Given the description of an element on the screen output the (x, y) to click on. 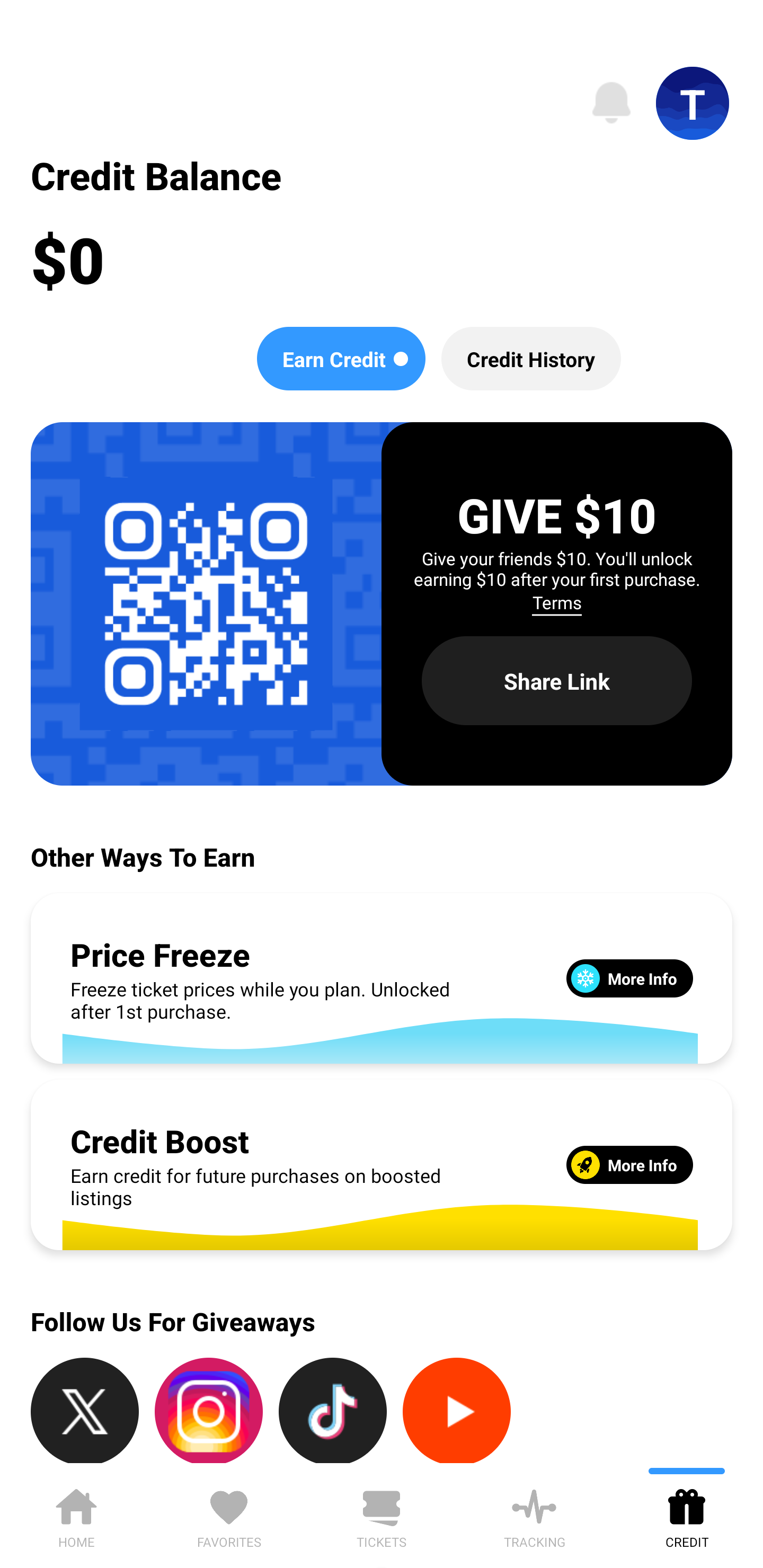
T (692, 103)
Earn Credit (341, 358)
Credit History (531, 358)
Share Link (556, 680)
More Info (629, 978)
More Info (629, 1164)
X (84, 1409)
Instagram (208, 1409)
TikTok (332, 1409)
YouTube (456, 1409)
HOME (76, 1515)
FAVORITES (228, 1515)
TICKETS (381, 1515)
TRACKING (533, 1515)
CREDIT (686, 1515)
